Given the description of an element on the screen output the (x, y) to click on. 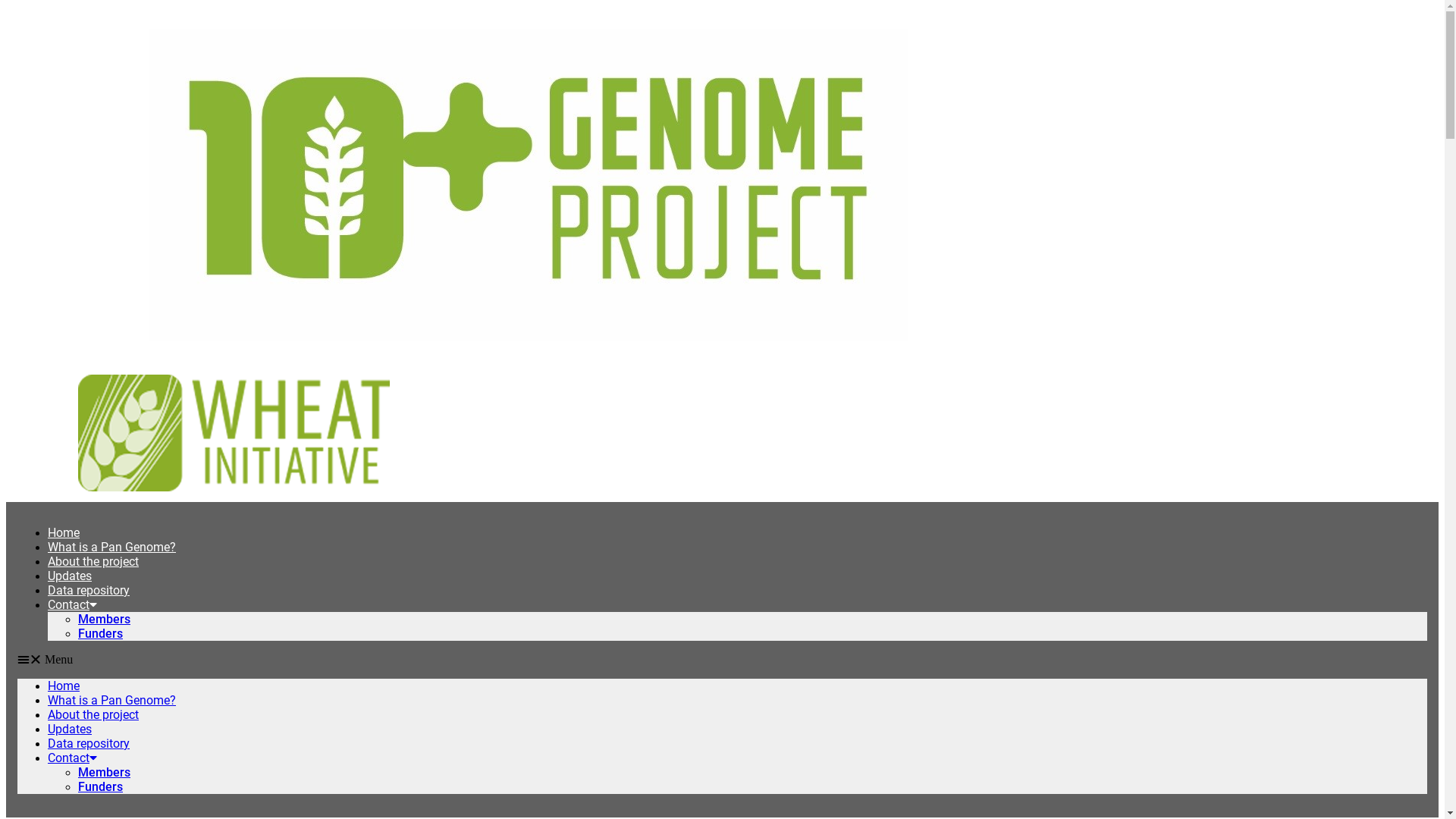
Members Element type: text (104, 772)
Members Element type: text (104, 618)
Data repository Element type: text (88, 590)
Funders Element type: text (100, 633)
About the project Element type: text (92, 561)
Updates Element type: text (69, 728)
About the project Element type: text (92, 714)
Funders Element type: text (100, 786)
Home Element type: text (63, 532)
Contact Element type: text (72, 604)
Updates Element type: text (69, 575)
Contact Element type: text (72, 757)
What is a Pan Genome? Element type: text (111, 546)
Skip to content Element type: text (5, 5)
What is a Pan Genome? Element type: text (111, 700)
Data repository Element type: text (88, 743)
Home Element type: text (63, 685)
